Given the description of an element on the screen output the (x, y) to click on. 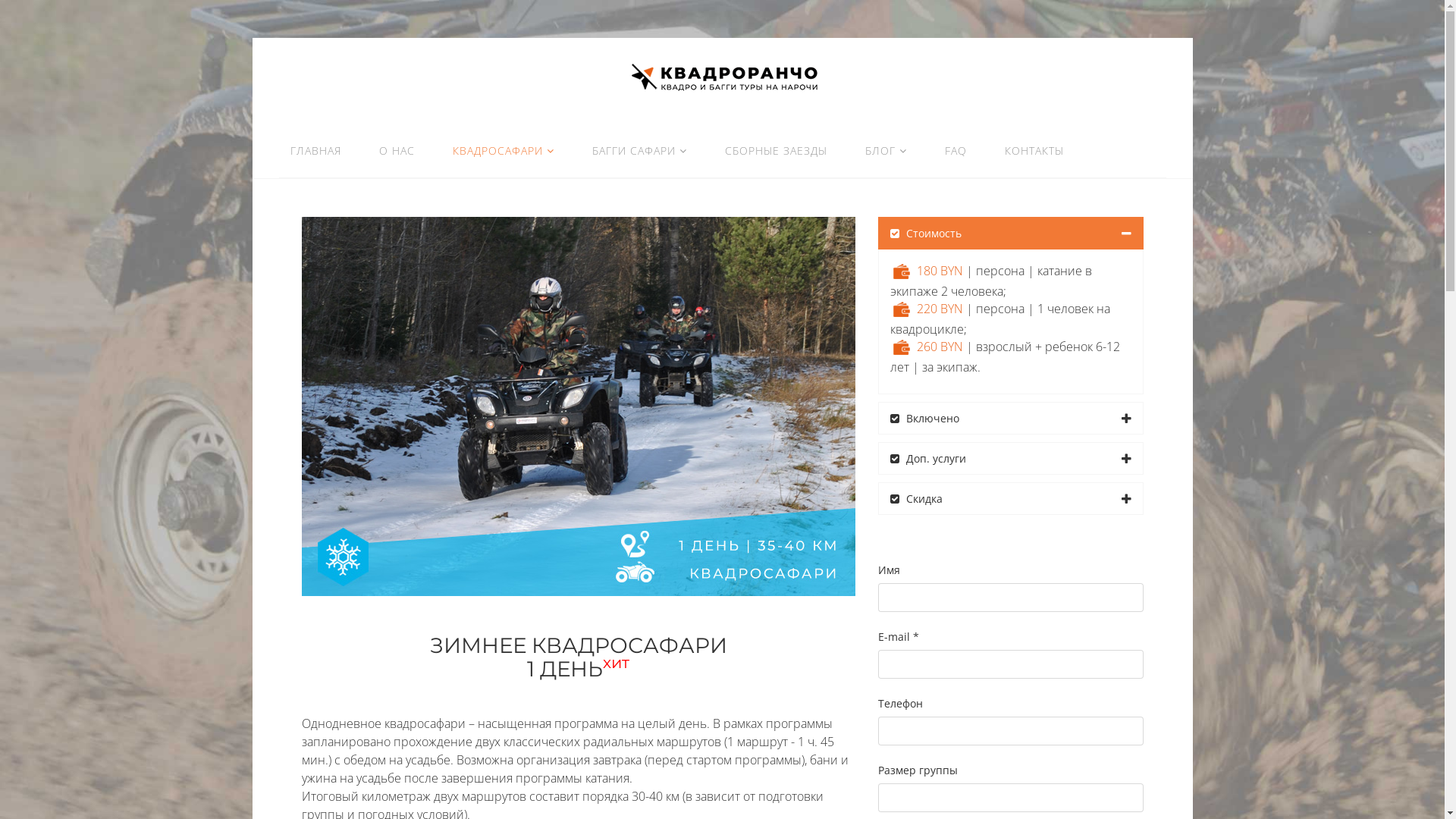
FAQ Element type: text (955, 150)
